Given the description of an element on the screen output the (x, y) to click on. 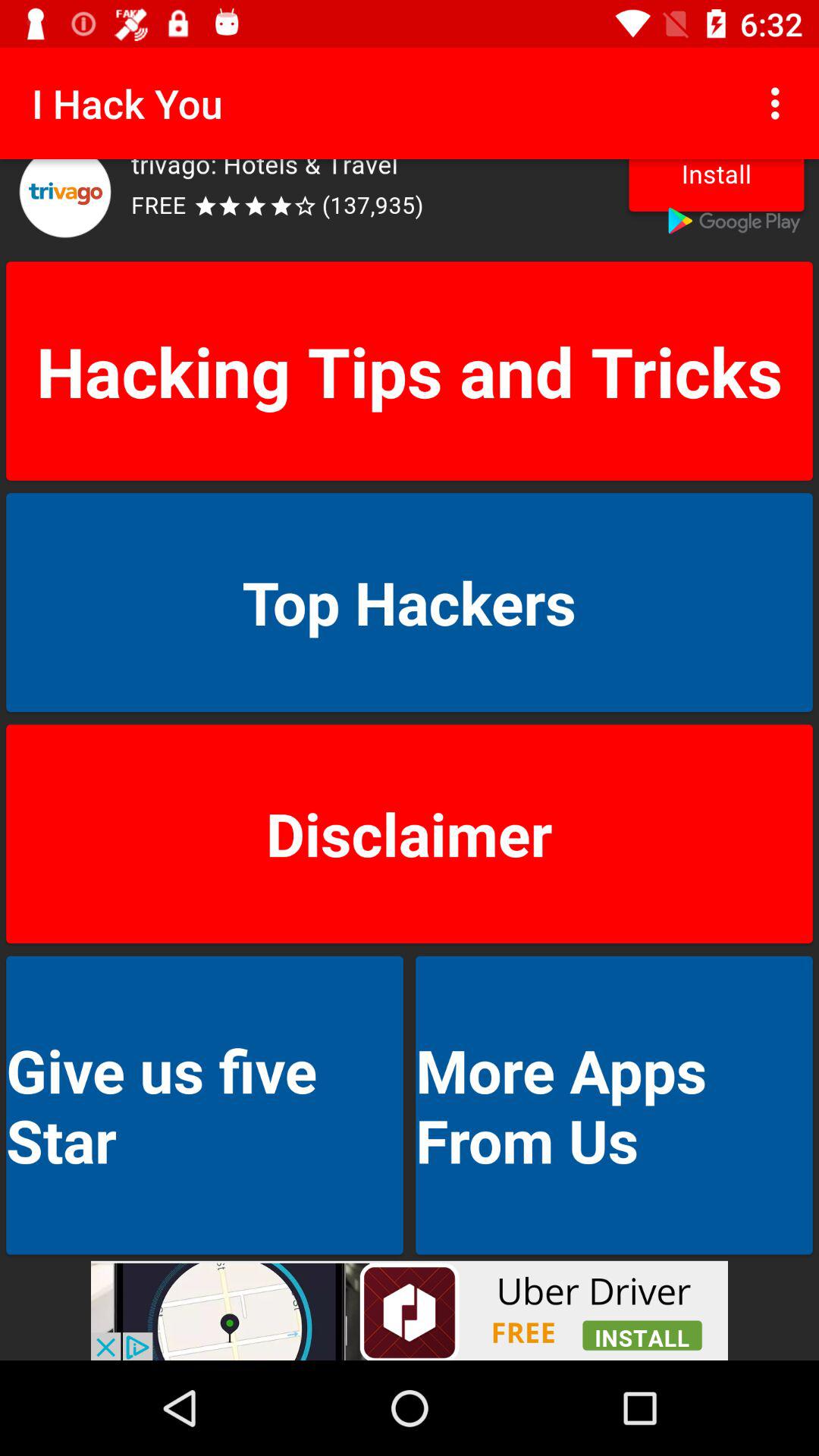
advertisement (409, 1310)
